Given the description of an element on the screen output the (x, y) to click on. 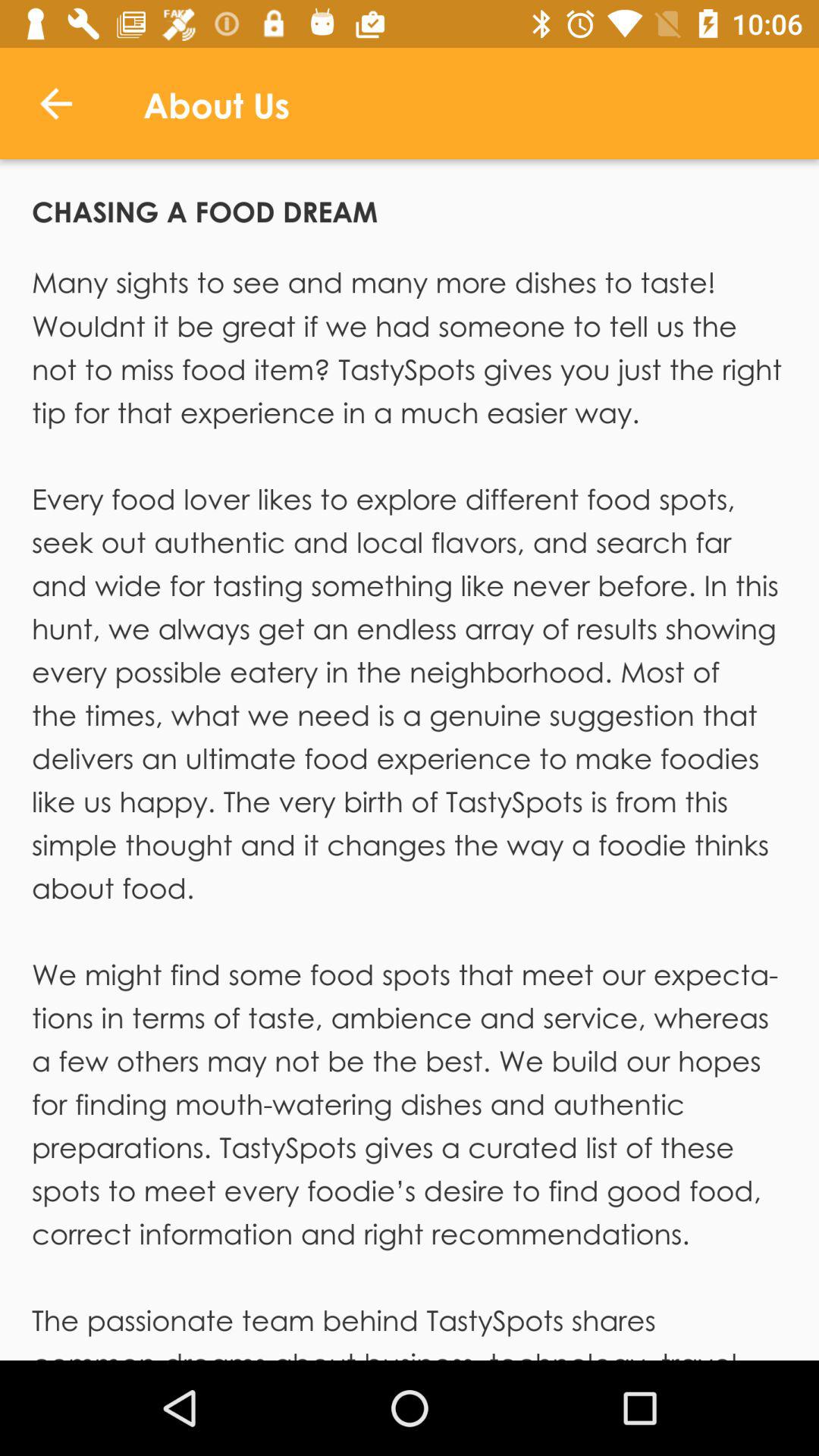
press item above chasing a food icon (55, 103)
